Given the description of an element on the screen output the (x, y) to click on. 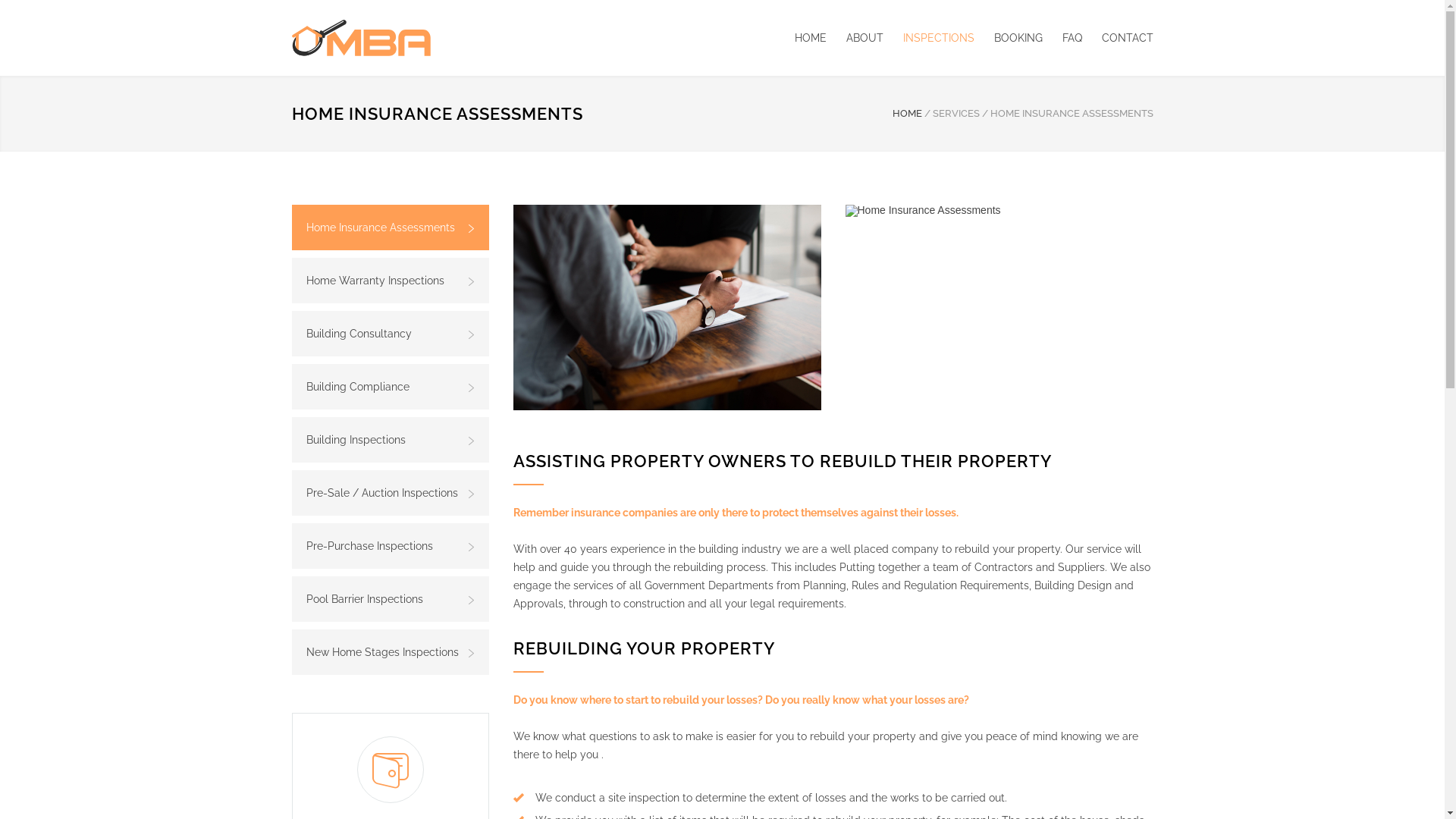
Building Compliance Element type: text (389, 386)
Home Insurance Assessments Element type: hover (666, 307)
Building Consultancy Element type: text (389, 333)
Home Insurance Assessments Element type: hover (998, 210)
Building Inspections Element type: text (389, 439)
MBA Building Management Element type: hover (360, 37)
INSPECTIONS Element type: text (927, 37)
HOME Element type: text (810, 37)
ABOUT Element type: text (854, 37)
HOME Element type: text (906, 113)
BOOKING Element type: text (1007, 37)
Pre-Sale / Auction Inspections Element type: text (389, 492)
Pool Barrier Inspections Element type: text (389, 598)
New Home Stages Inspections Element type: text (389, 651)
Home Insurance Assessments Element type: text (389, 227)
FAQ Element type: text (1061, 37)
CONTACT Element type: text (1116, 37)
Home Warranty Inspections Element type: text (389, 280)
Pre-Purchase Inspections Element type: text (389, 545)
